Given the description of an element on the screen output the (x, y) to click on. 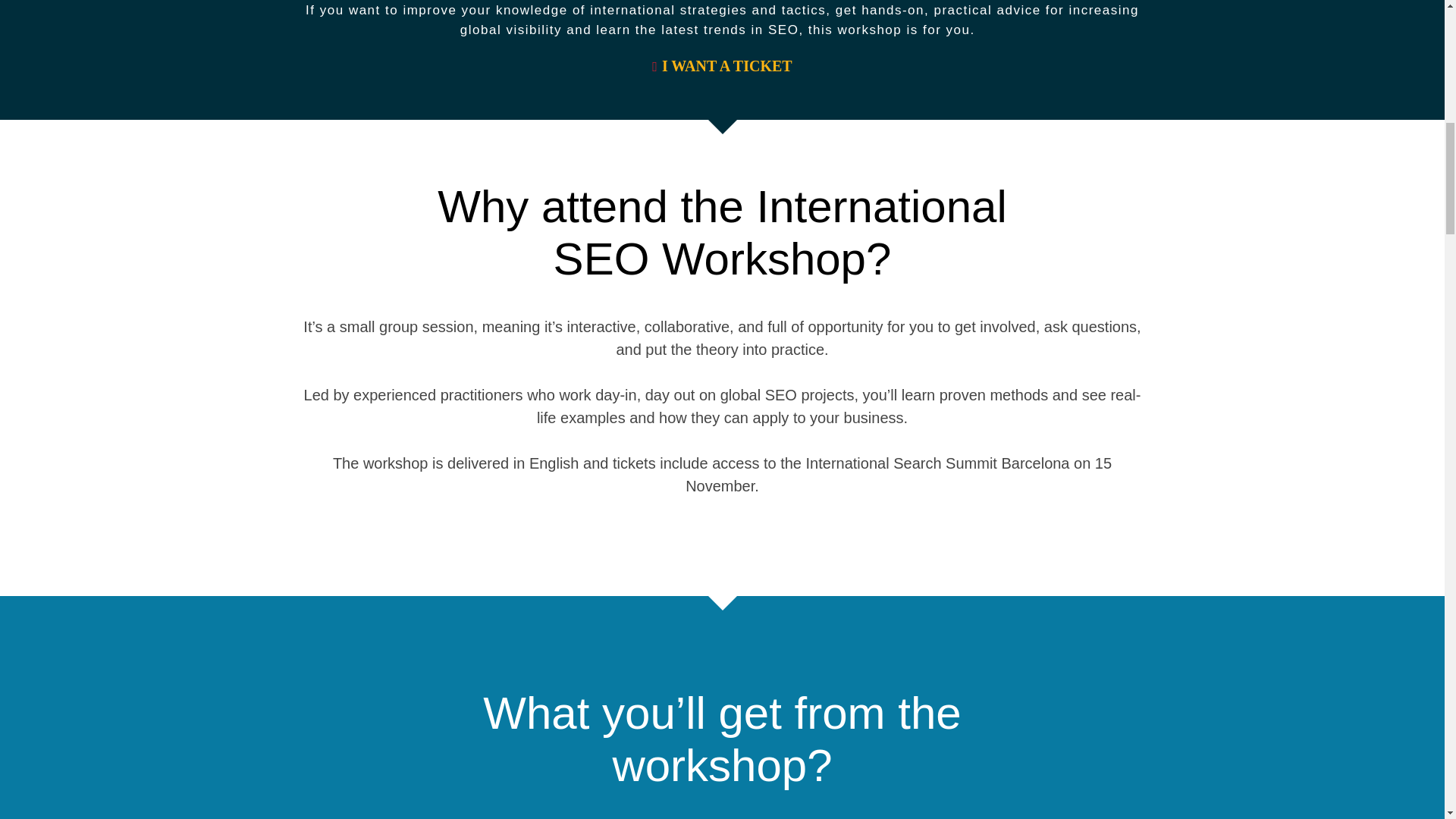
I WANT A TICKET (722, 65)
